Given the description of an element on the screen output the (x, y) to click on. 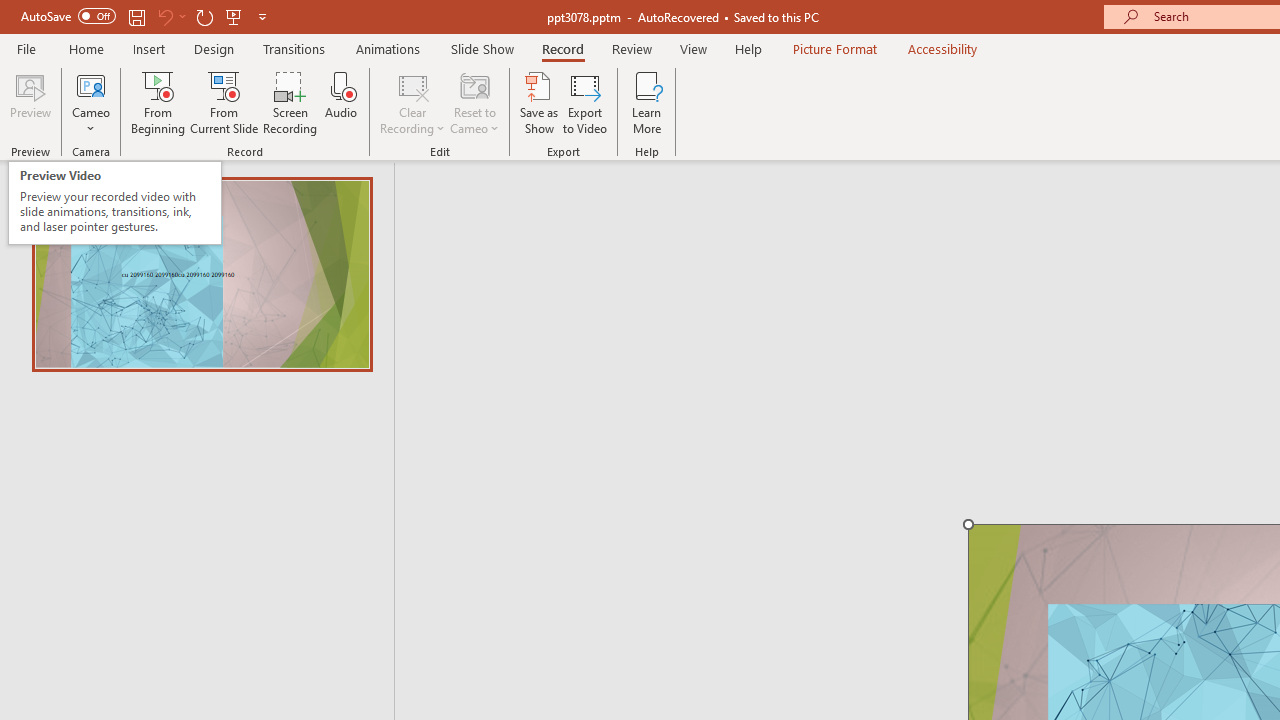
Picture Format (834, 48)
From Current Slide... (224, 102)
Save as Show (539, 102)
Learn More (646, 102)
Clear Recording (412, 102)
